Given the description of an element on the screen output the (x, y) to click on. 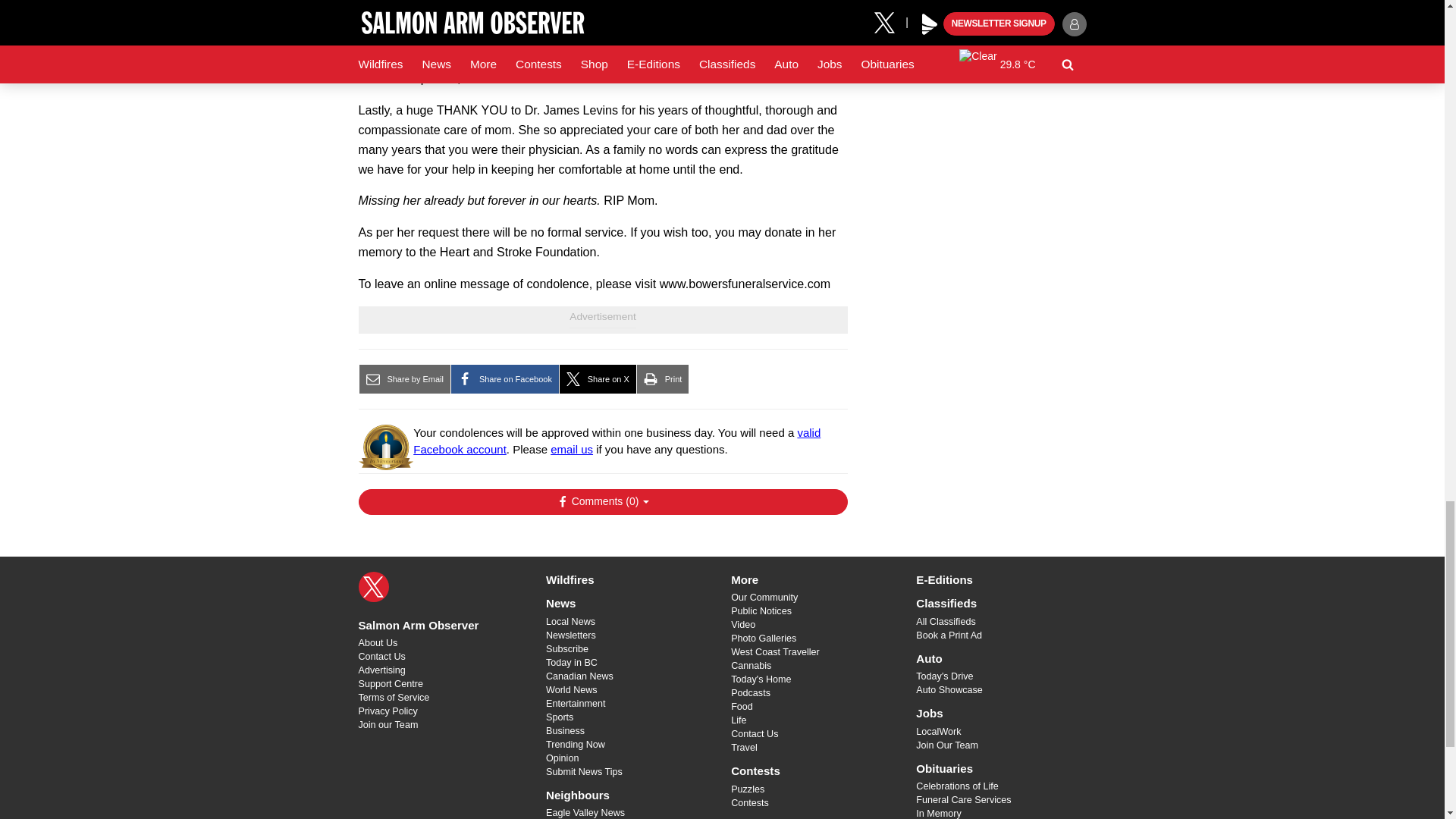
X (373, 586)
Show Comments (602, 501)
